Given the description of an element on the screen output the (x, y) to click on. 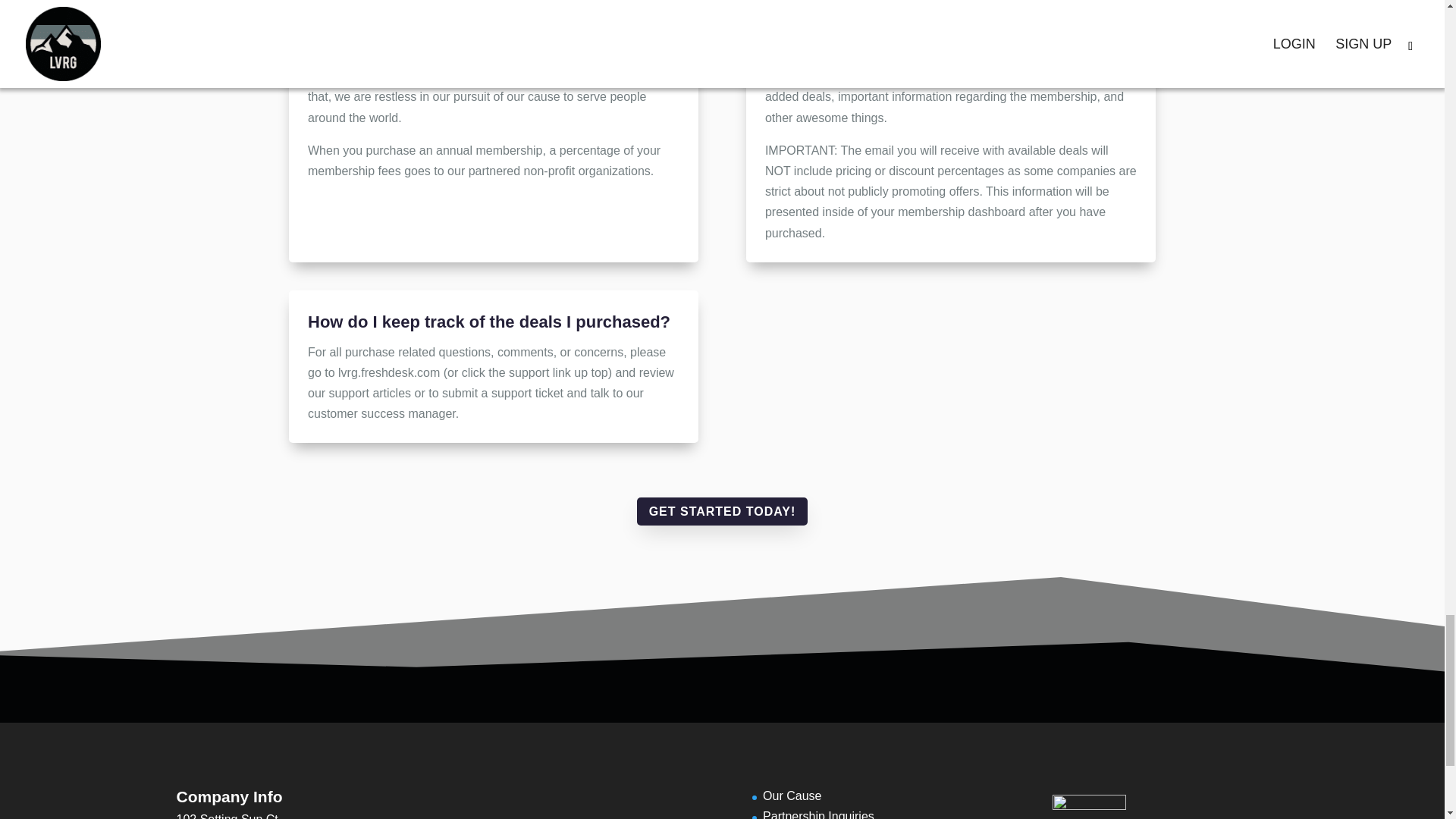
Partnership Inquiries (818, 814)
Our Cause (791, 795)
GET STARTED TODAY! (722, 511)
